Given the description of an element on the screen output the (x, y) to click on. 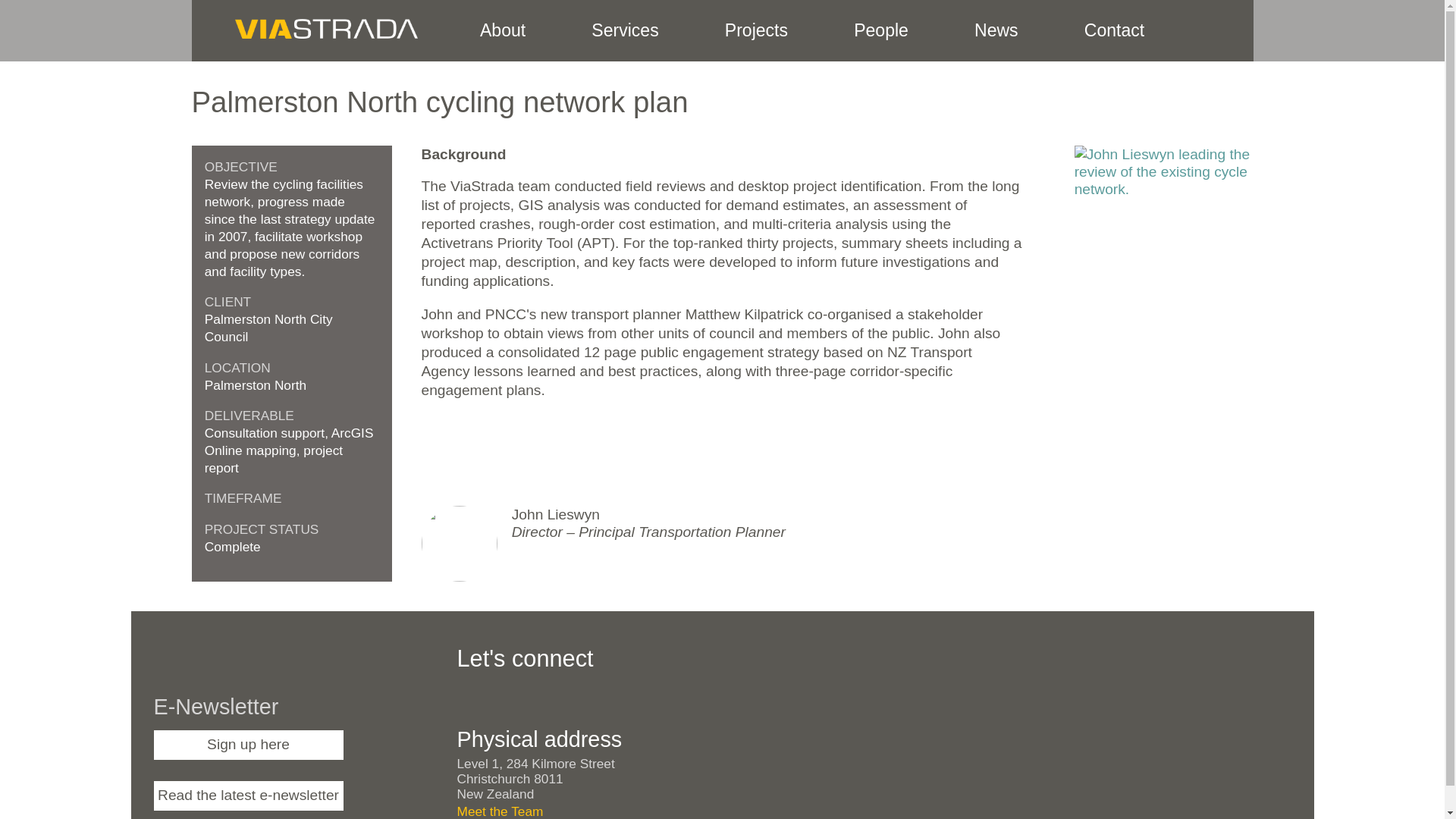
Services (625, 30)
This is our team (881, 30)
About (501, 30)
